Given the description of an element on the screen output the (x, y) to click on. 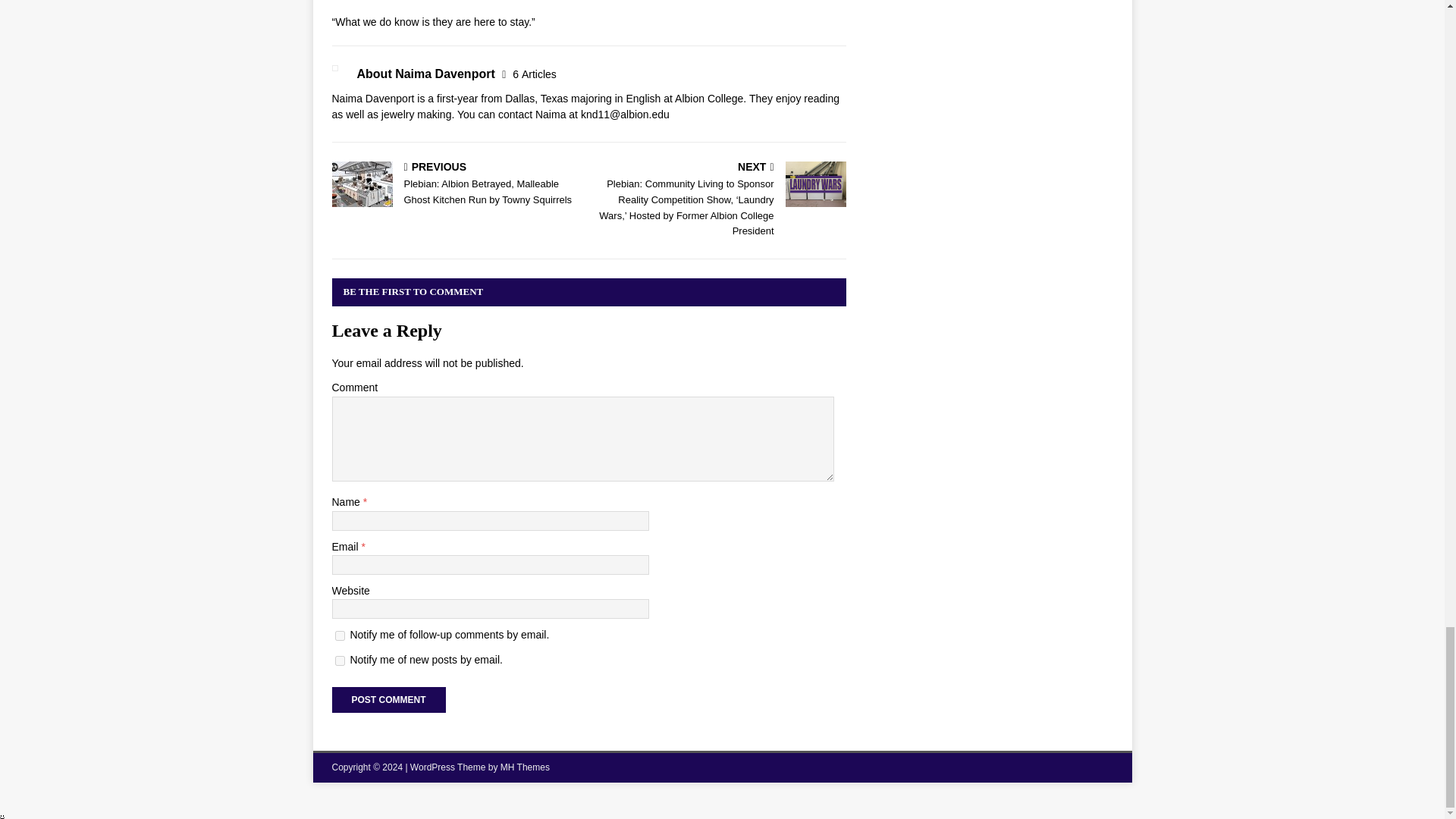
Post Comment (388, 699)
subscribe (339, 635)
More articles written by Naima Davenport' (534, 73)
Post Comment (388, 699)
6 Articles (534, 73)
subscribe (339, 660)
